Given the description of an element on the screen output the (x, y) to click on. 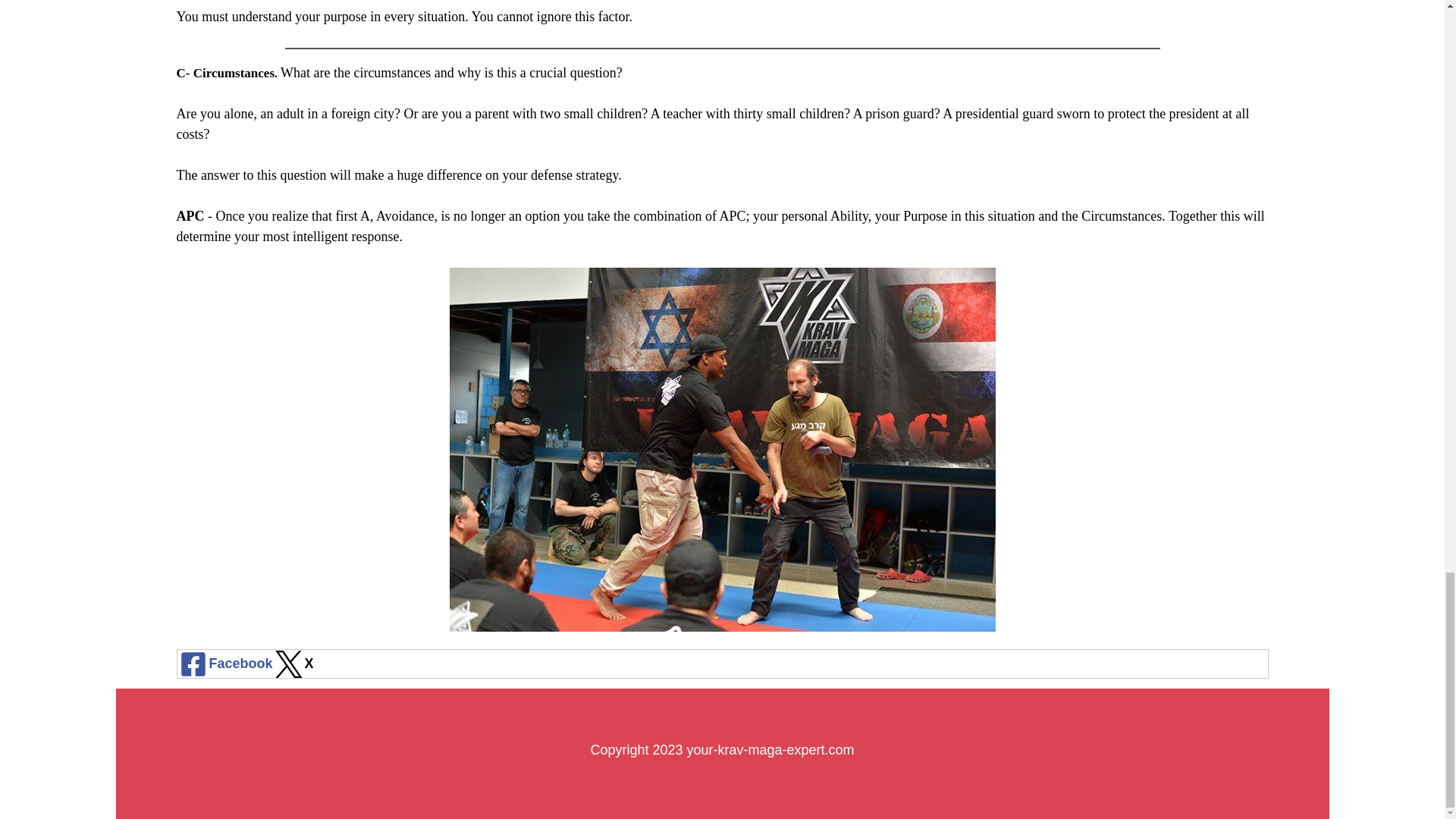
X (293, 664)
Facebook (225, 664)
